Given the description of an element on the screen output the (x, y) to click on. 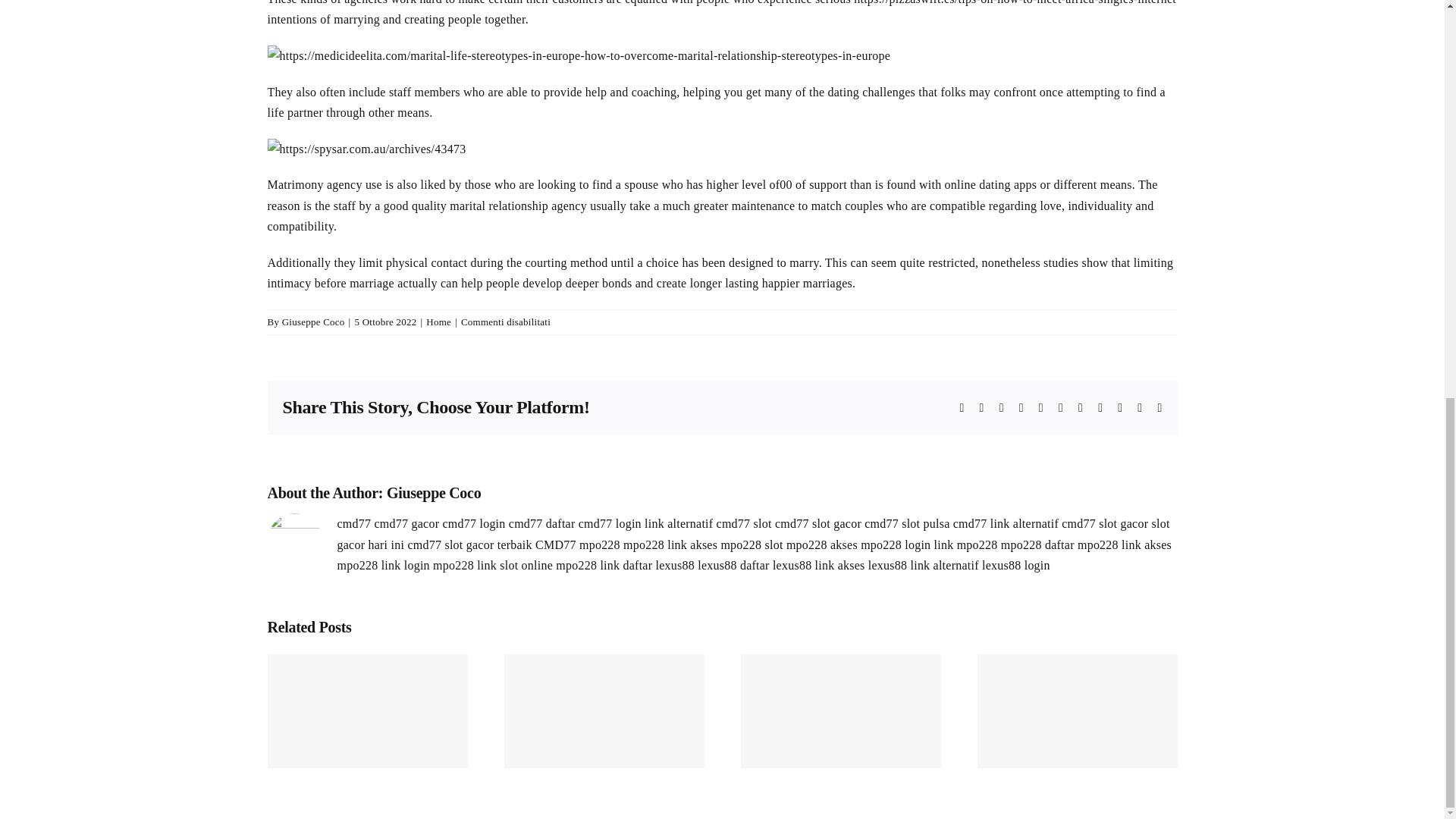
Facebook (961, 408)
Vk (1120, 408)
Giuseppe Coco (433, 492)
Xing (1139, 408)
Tumblr (1080, 408)
Articoli scritti da Giuseppe Coco (313, 321)
Pinterest (1099, 408)
Articoli scritti da Giuseppe Coco (433, 492)
Telegram (1060, 408)
Email (1159, 408)
Reddit (1001, 408)
cmd77 gacor (406, 522)
cmd77 login (473, 522)
cmd77 (353, 522)
Home (438, 321)
